Given the description of an element on the screen output the (x, y) to click on. 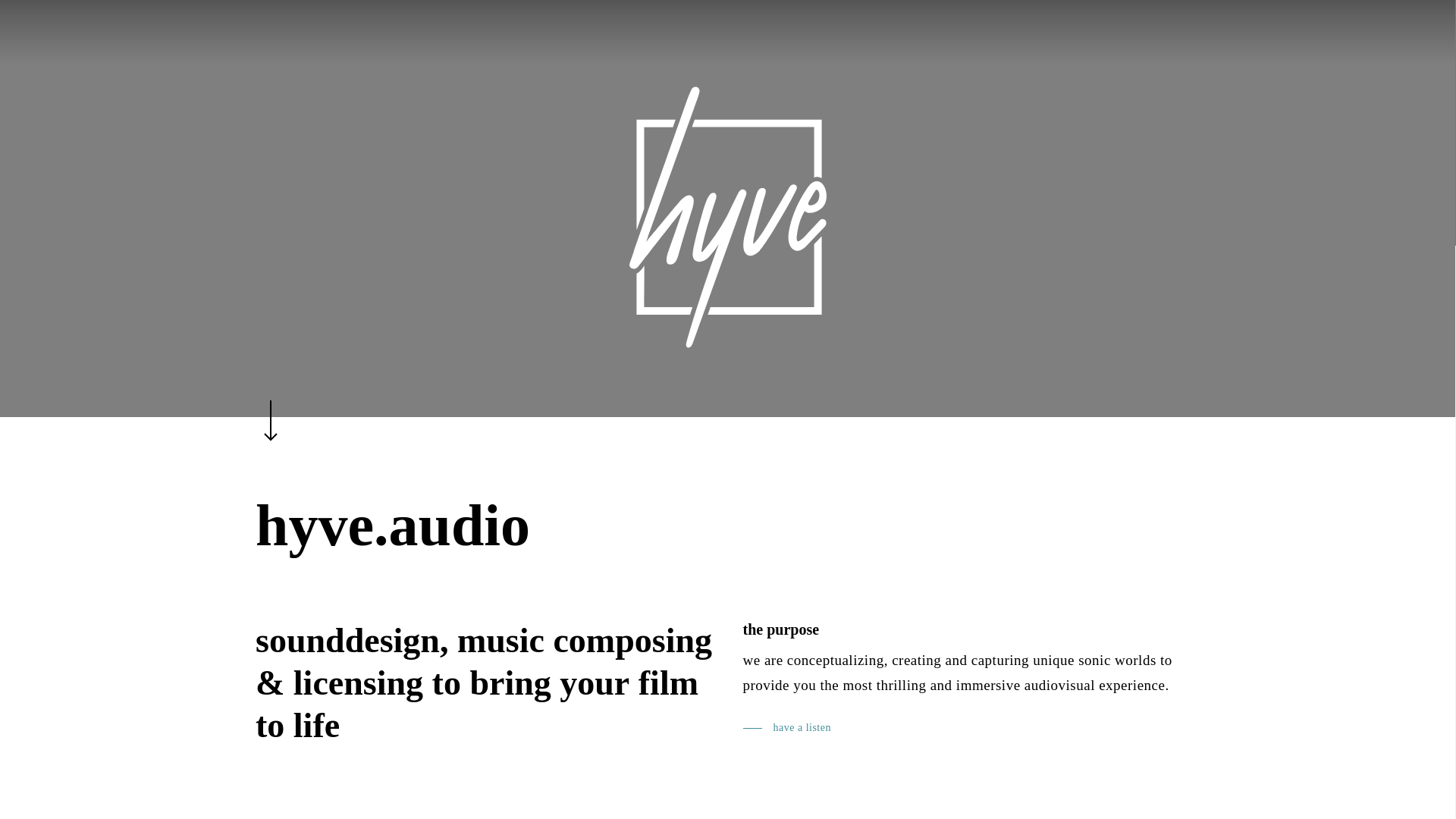
instagram Element type: text (701, 709)
email Element type: text (807, 709)
soundcloud Element type: text (754, 709)
Privacy Element type: text (810, 756)
Navigate to the next section Element type: text (266, 404)
facebook Element type: text (648, 709)
have a listen Element type: text (787, 727)
Imprint Element type: text (767, 756)
